Given the description of an element on the screen output the (x, y) to click on. 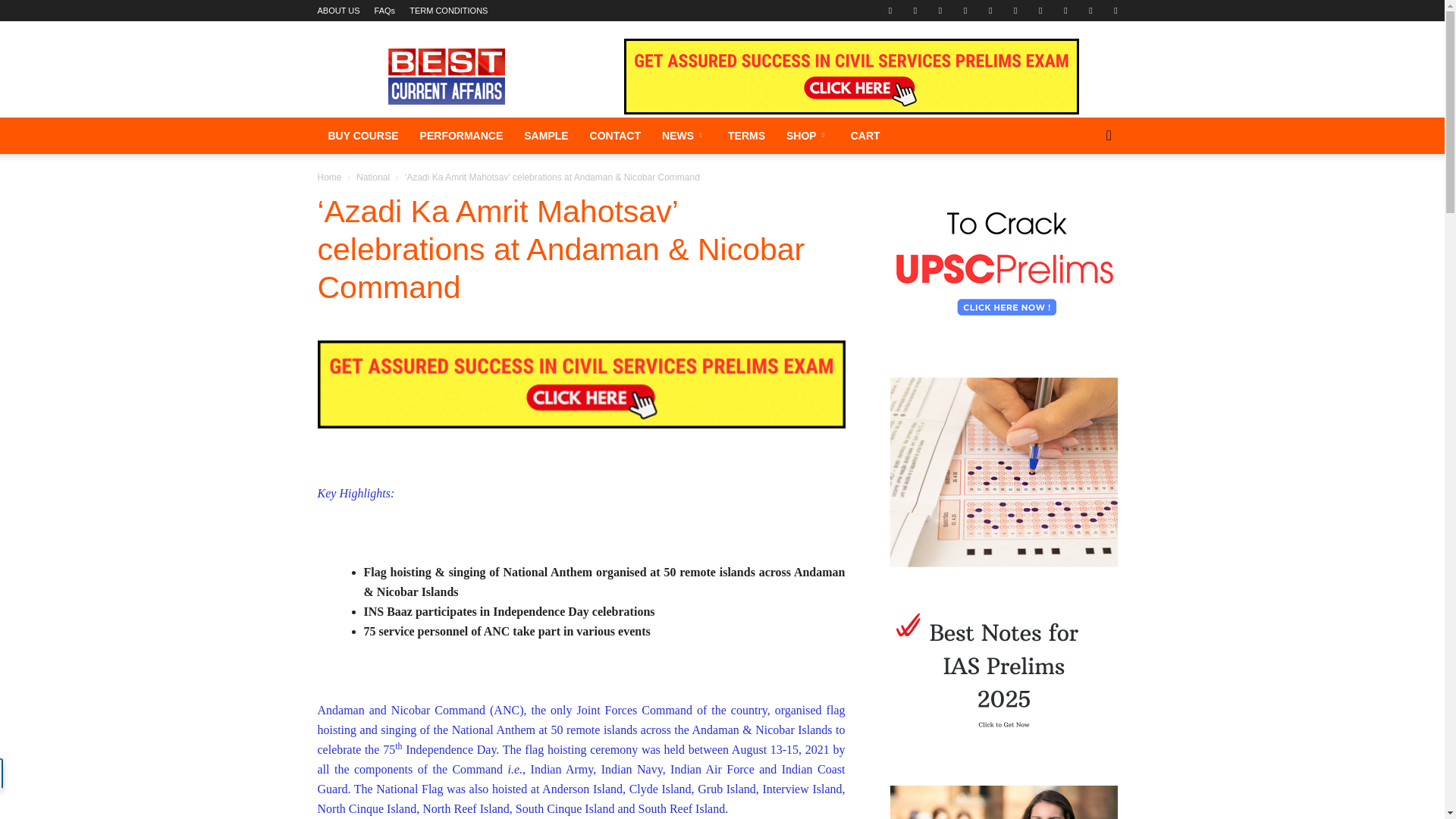
Facebook (890, 10)
ABOUT US (338, 10)
FAQs (385, 10)
TERM CONDITIONS (448, 10)
Flickr (915, 10)
Instagram (964, 10)
